Given the description of an element on the screen output the (x, y) to click on. 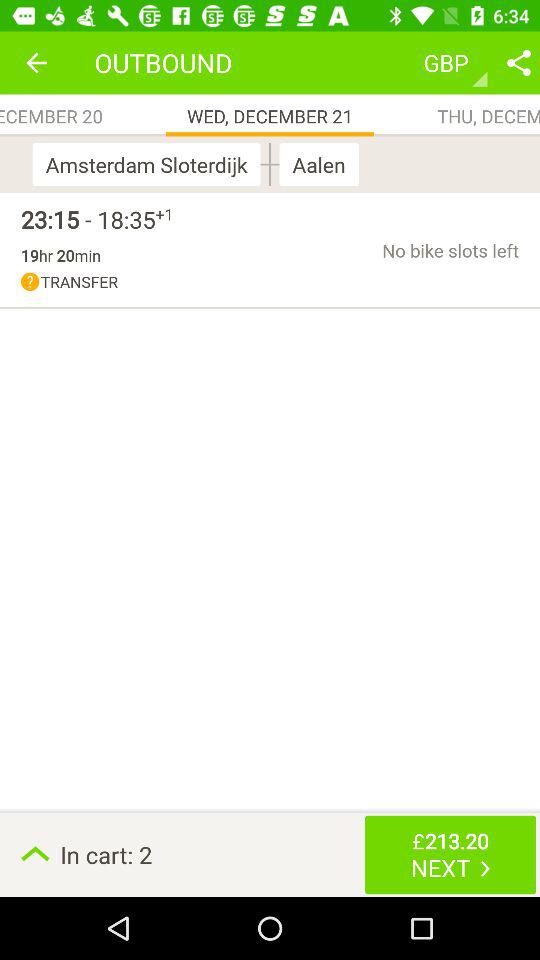
share (519, 62)
